Given the description of an element on the screen output the (x, y) to click on. 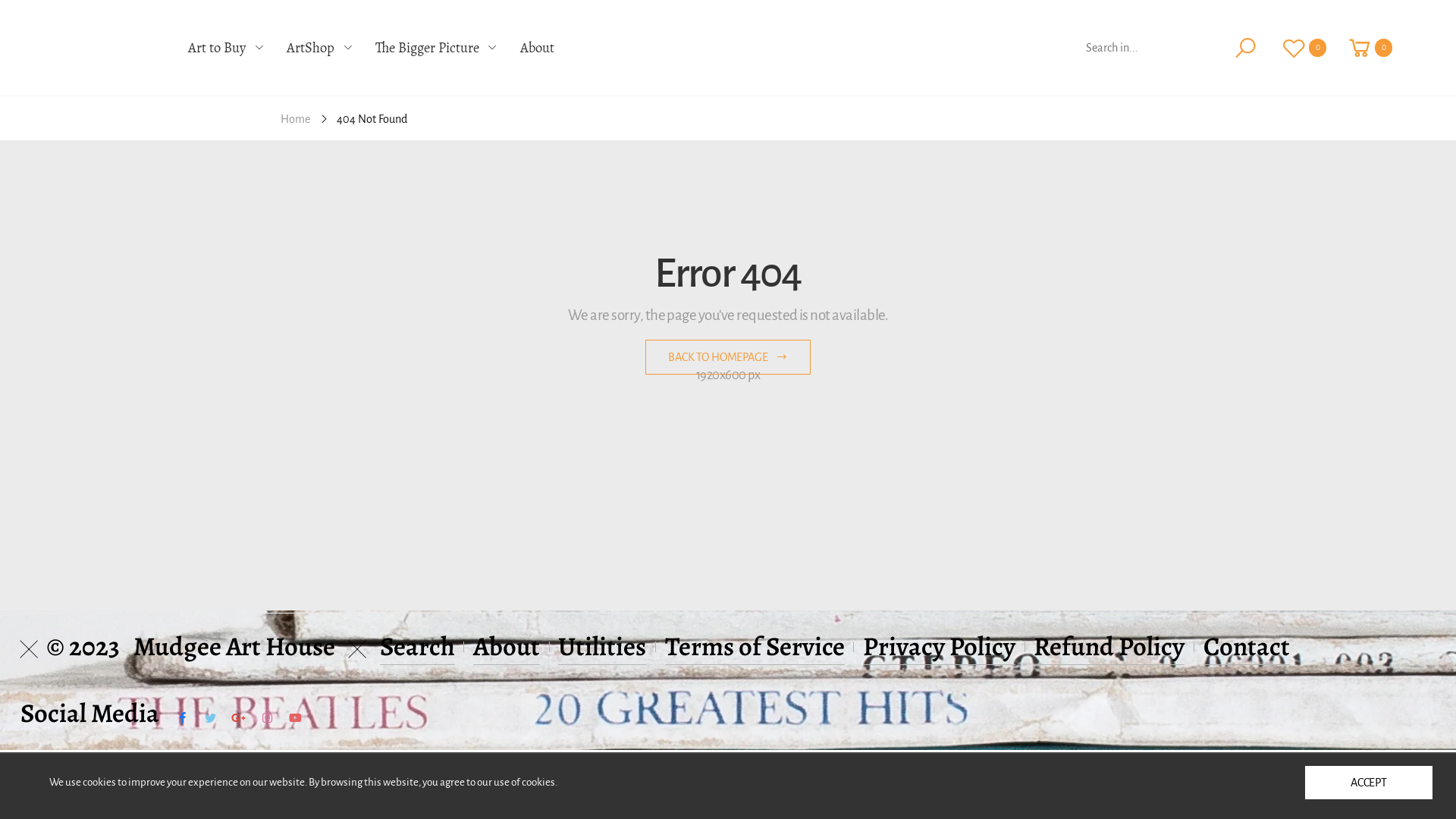
Mudgee Art House on Google plus Element type: hover (238, 717)
Refund Policy Element type: text (1108, 646)
0 Element type: text (1303, 47)
0 Element type: text (1369, 47)
Search Element type: text (417, 646)
Utilities Element type: text (602, 646)
About Element type: text (537, 48)
Privacy Policy Element type: text (938, 646)
About Element type: text (506, 646)
Mudgee Art House on Instagram Element type: hover (266, 717)
Contact Element type: text (1246, 646)
The Bigger Picture Element type: text (436, 48)
Mudgee Art House on Youtube Element type: hover (294, 717)
Mudgee Art House on Twitter Element type: hover (209, 717)
Terms of Service Element type: text (754, 646)
ArtShop Element type: text (319, 48)
ACCEPT Element type: text (1368, 782)
Home Element type: text (295, 118)
Art to Buy Element type: text (225, 48)
BACK TO HOMEPAGE Element type: text (727, 356)
Mudgee Art House on Facebook Element type: hover (182, 717)
